Given the description of an element on the screen output the (x, y) to click on. 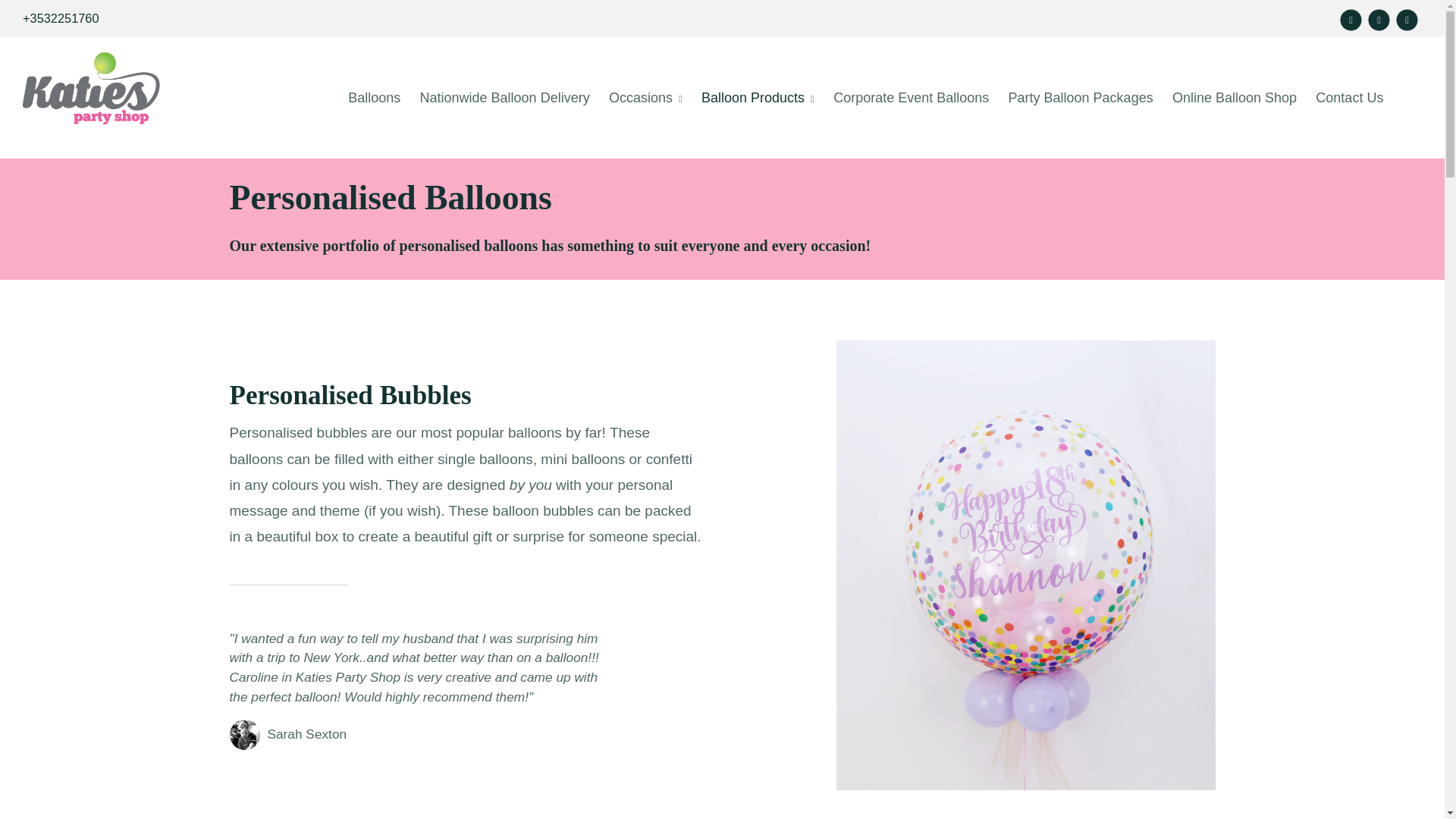
Balloons (373, 97)
Party Balloon Packages (1080, 97)
Nationwide Balloon Delivery (504, 97)
Corporate Event Balloons (910, 97)
Contact Us (1348, 97)
Online Balloon Shop (1234, 97)
